Given the description of an element on the screen output the (x, y) to click on. 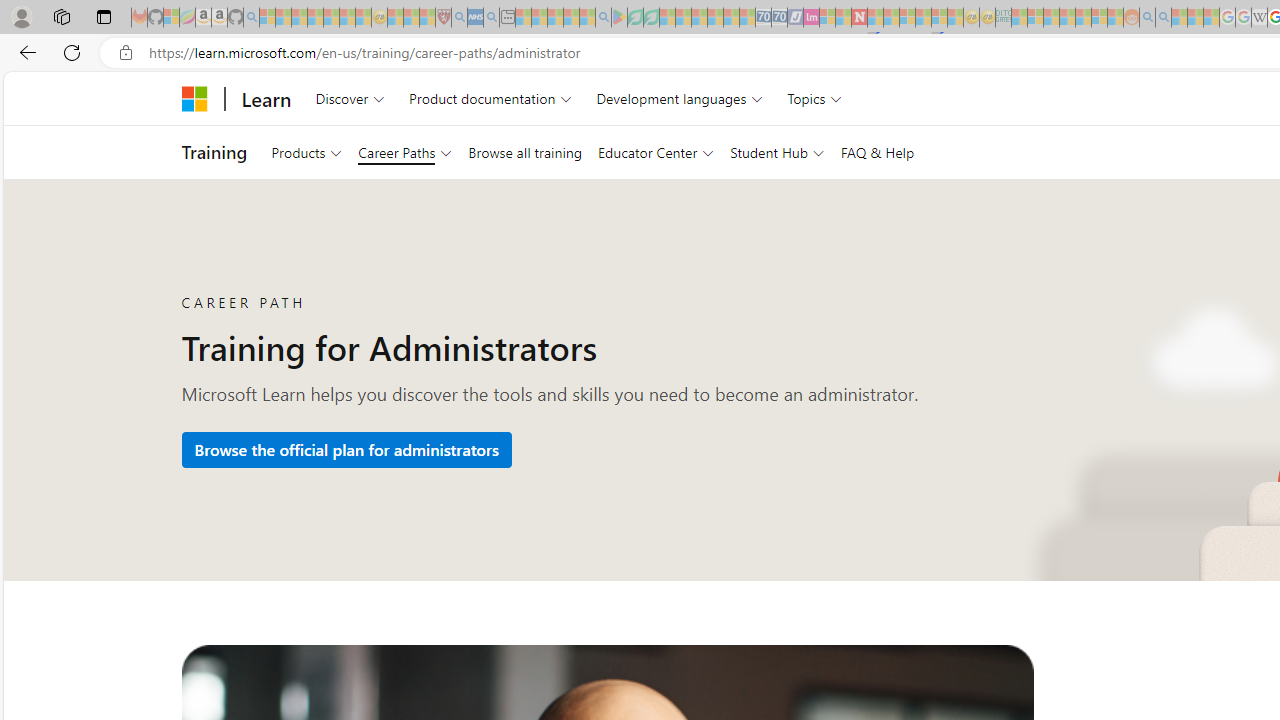
Cheap Car Rentals - Save70.com - Sleeping (763, 17)
Browse all training (524, 152)
utah sues federal government - Search - Sleeping (491, 17)
DITOGAMES AG Imprint - Sleeping (1003, 17)
Career Paths (404, 152)
Educator Center (655, 152)
Microsoft Start - Sleeping (1179, 17)
